Given the description of an element on the screen output the (x, y) to click on. 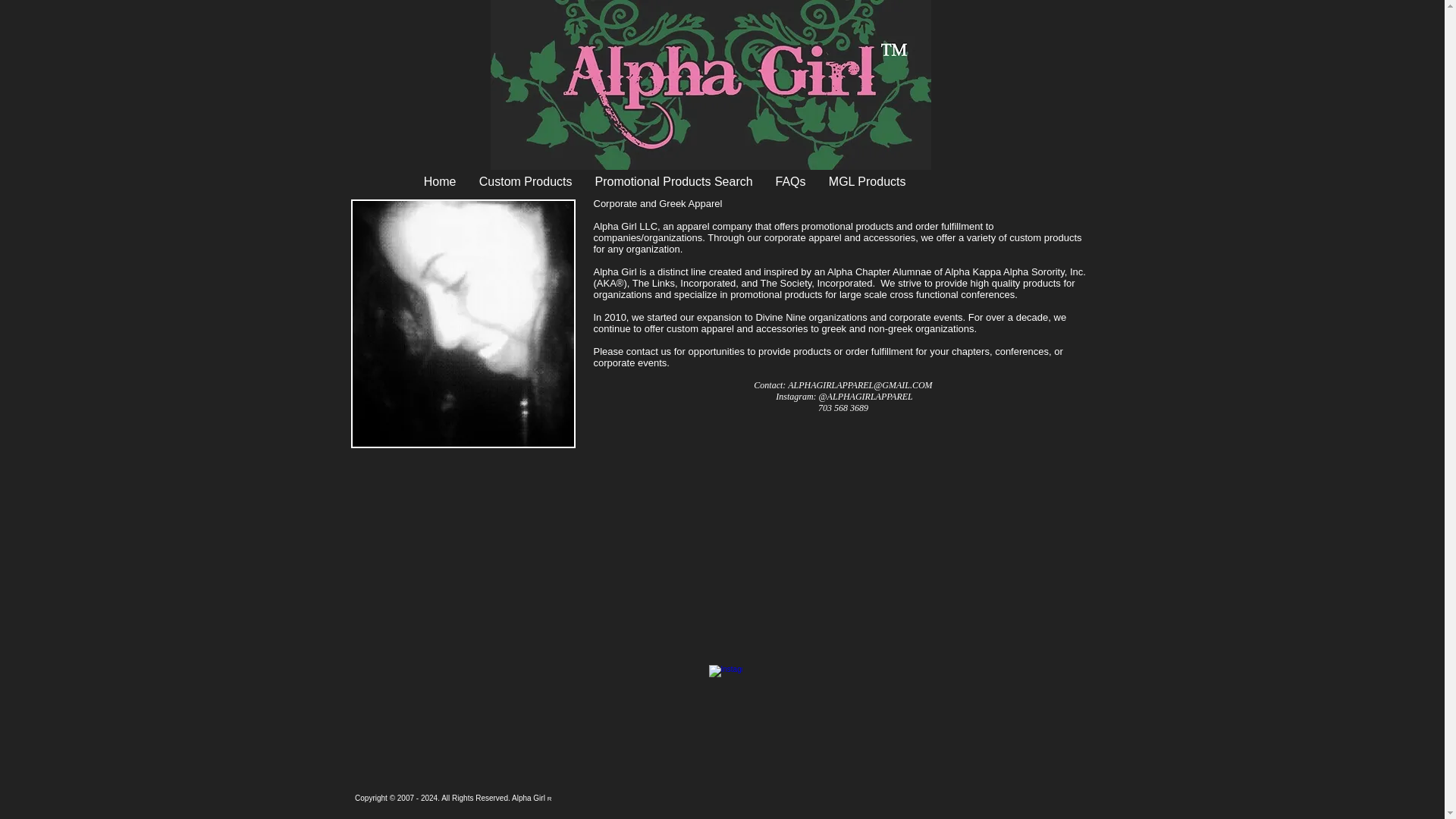
Home (439, 181)
FAQs (790, 181)
Promotional Products Search (673, 181)
Custom Products (525, 181)
AGlogo.jpg 2014-12-10-22:47:43 (709, 84)
MGL Products (866, 181)
